Given the description of an element on the screen output the (x, y) to click on. 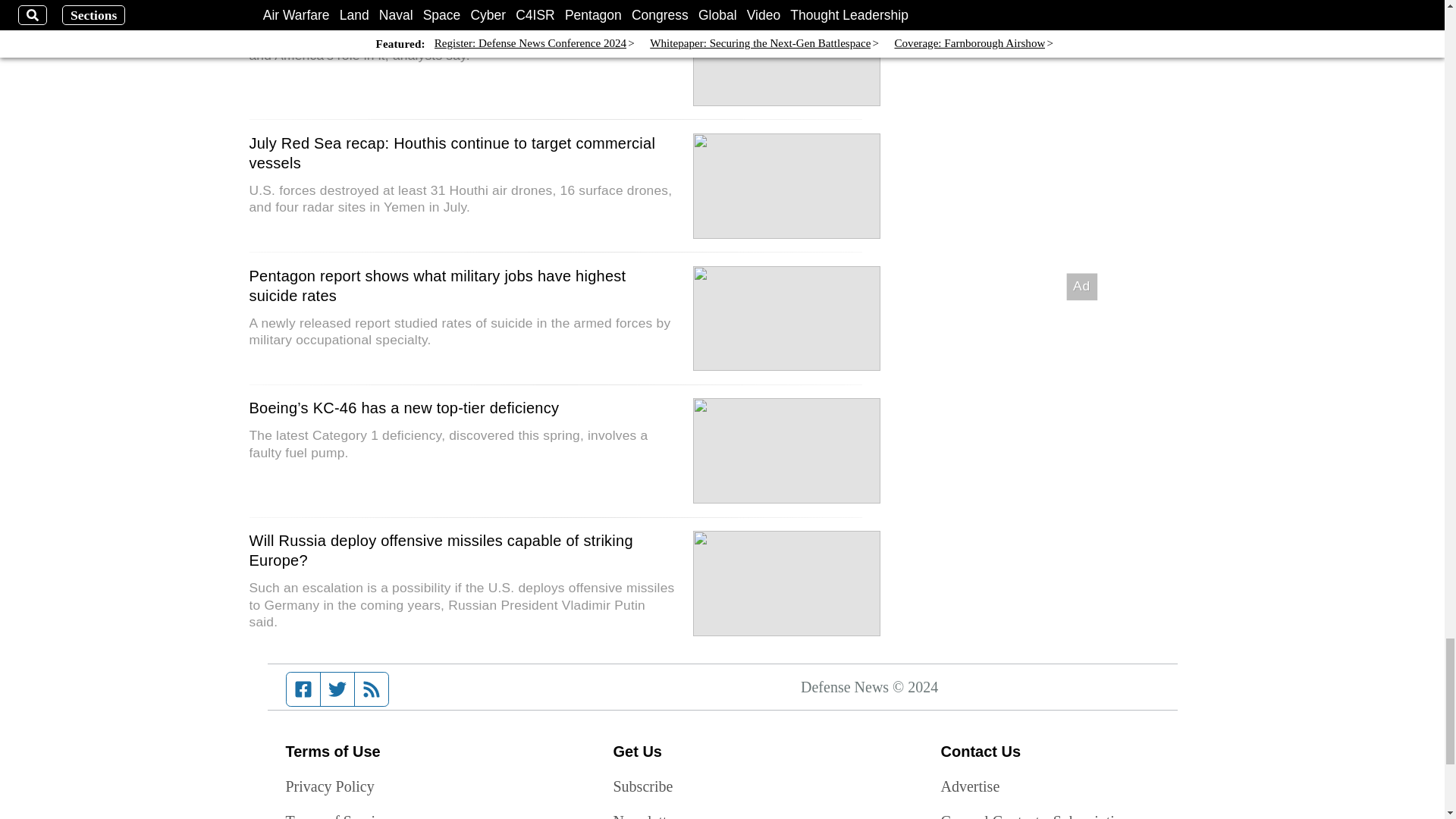
Facebook page (303, 688)
Twitter feed (336, 688)
RSS feed (371, 688)
